Given the description of an element on the screen output the (x, y) to click on. 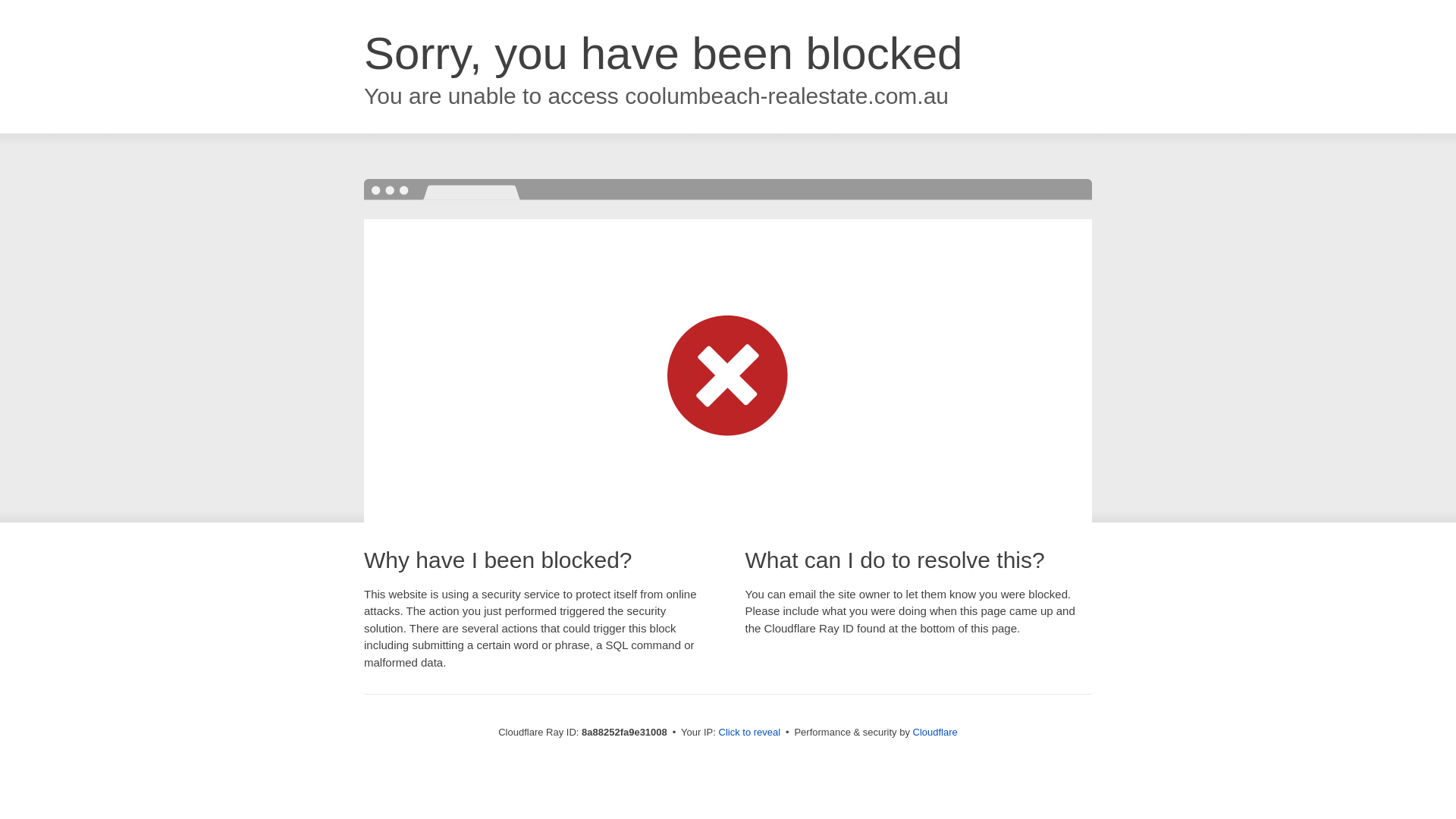
Click to reveal (749, 732)
Cloudflare (935, 731)
